Given the description of an element on the screen output the (x, y) to click on. 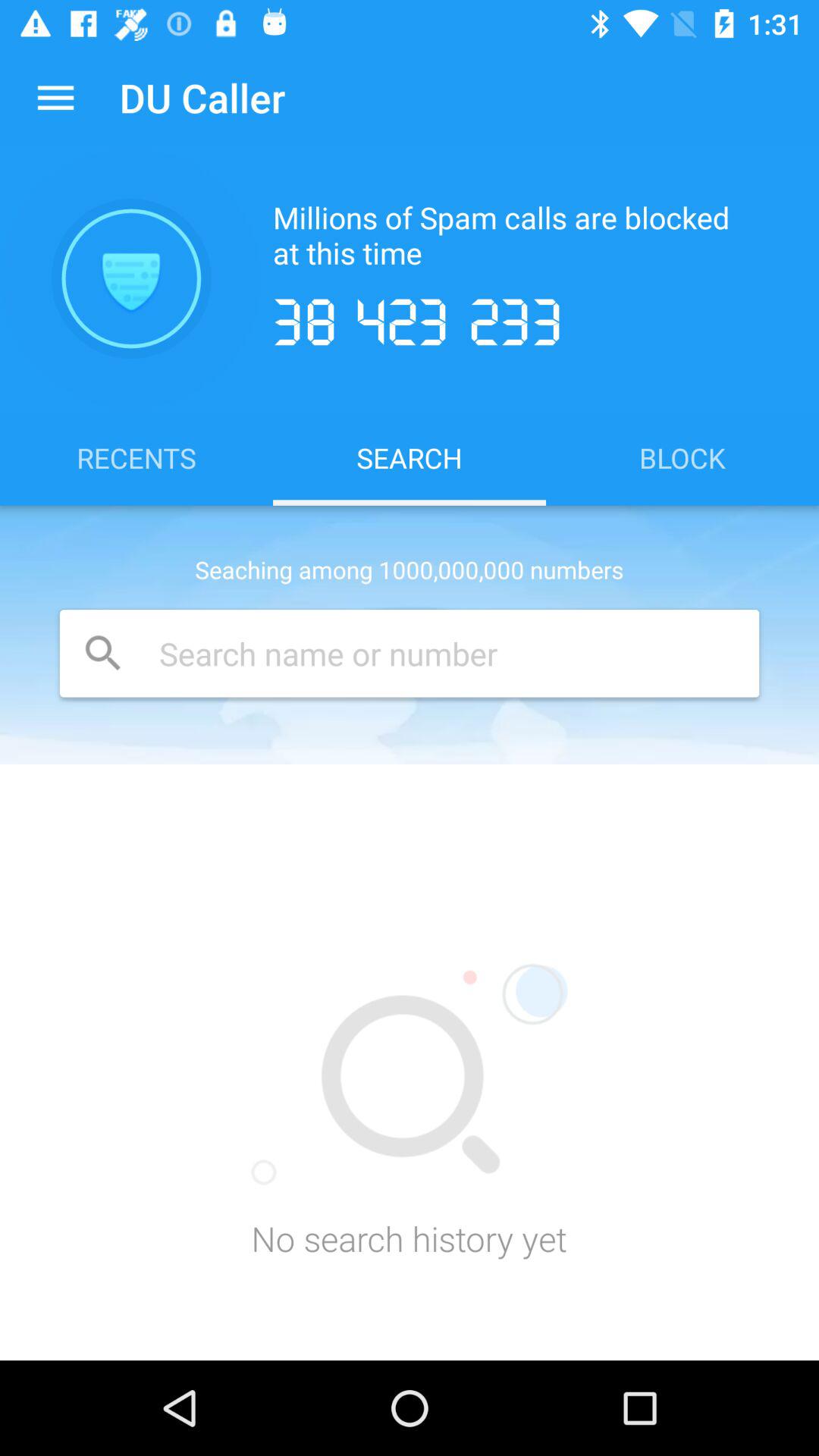
click the item to the right of search item (682, 457)
